Given the description of an element on the screen output the (x, y) to click on. 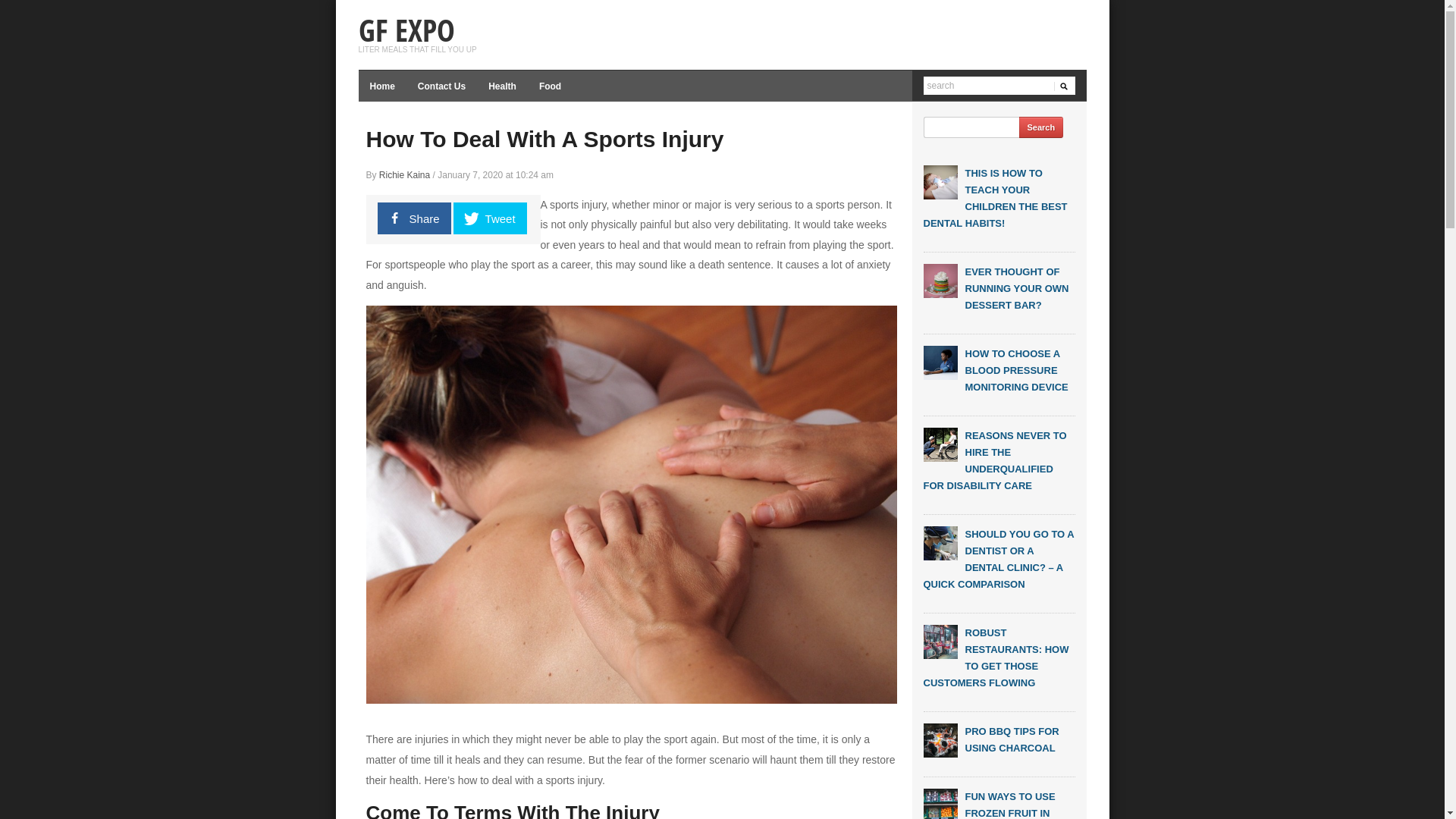
THIS IS HOW TO TEACH YOUR CHILDREN THE BEST DENTAL HABITS! Element type: text (995, 198)
Search Element type: text (1041, 127)
Pro BBQ Tips for Using Charcoal Element type: hover (940, 739)
ROBUST RESTAURANTS: HOW TO GET THOSE CUSTOMERS FLOWING Element type: text (996, 657)
REASONS NEVER TO HIRE THE UNDERQUALIFIED FOR DISABILITY CARE Element type: text (994, 460)
Contact Us Element type: text (441, 85)
Tweet Element type: text (490, 217)
GF EXPO Element type: text (405, 29)
Reasons NEVER to hire the underqualified for disability care Element type: hover (940, 444)
Ever Thought of Running Your Own Dessert Bar? Element type: hover (940, 280)
Share Element type: text (414, 217)
Home Element type: text (381, 85)
How to Choose a Blood Pressure Monitoring Device Element type: hover (940, 362)
Robust Restaurants: How to Get Those Customers Flowing Element type: hover (940, 641)
Food Element type: text (549, 85)
Richie Kaina Element type: text (404, 174)
This is how to teach your children the best dental habits! Element type: hover (940, 181)
PRO BBQ TIPS FOR USING CHARCOAL Element type: text (1011, 739)
Health Element type: text (501, 85)
EVER THOUGHT OF RUNNING YOUR OWN DESSERT BAR? Element type: text (1016, 288)
Fun Ways to Use Frozen Fruit in Your Diet Element type: hover (940, 805)
HOW TO CHOOSE A BLOOD PRESSURE MONITORING DEVICE Element type: text (1015, 370)
